Given the description of an element on the screen output the (x, y) to click on. 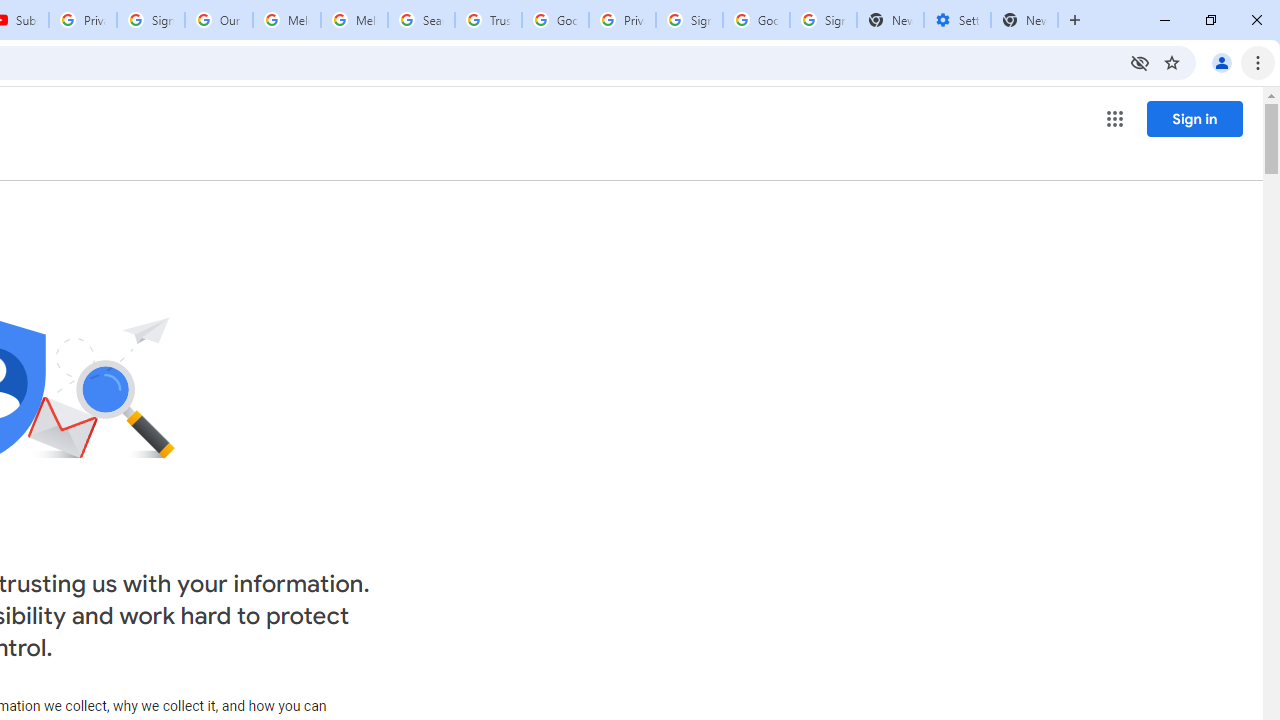
Search our Doodle Library Collection - Google Doodles (420, 20)
Google Ads - Sign in (555, 20)
Sign in - Google Accounts (689, 20)
